Given the description of an element on the screen output the (x, y) to click on. 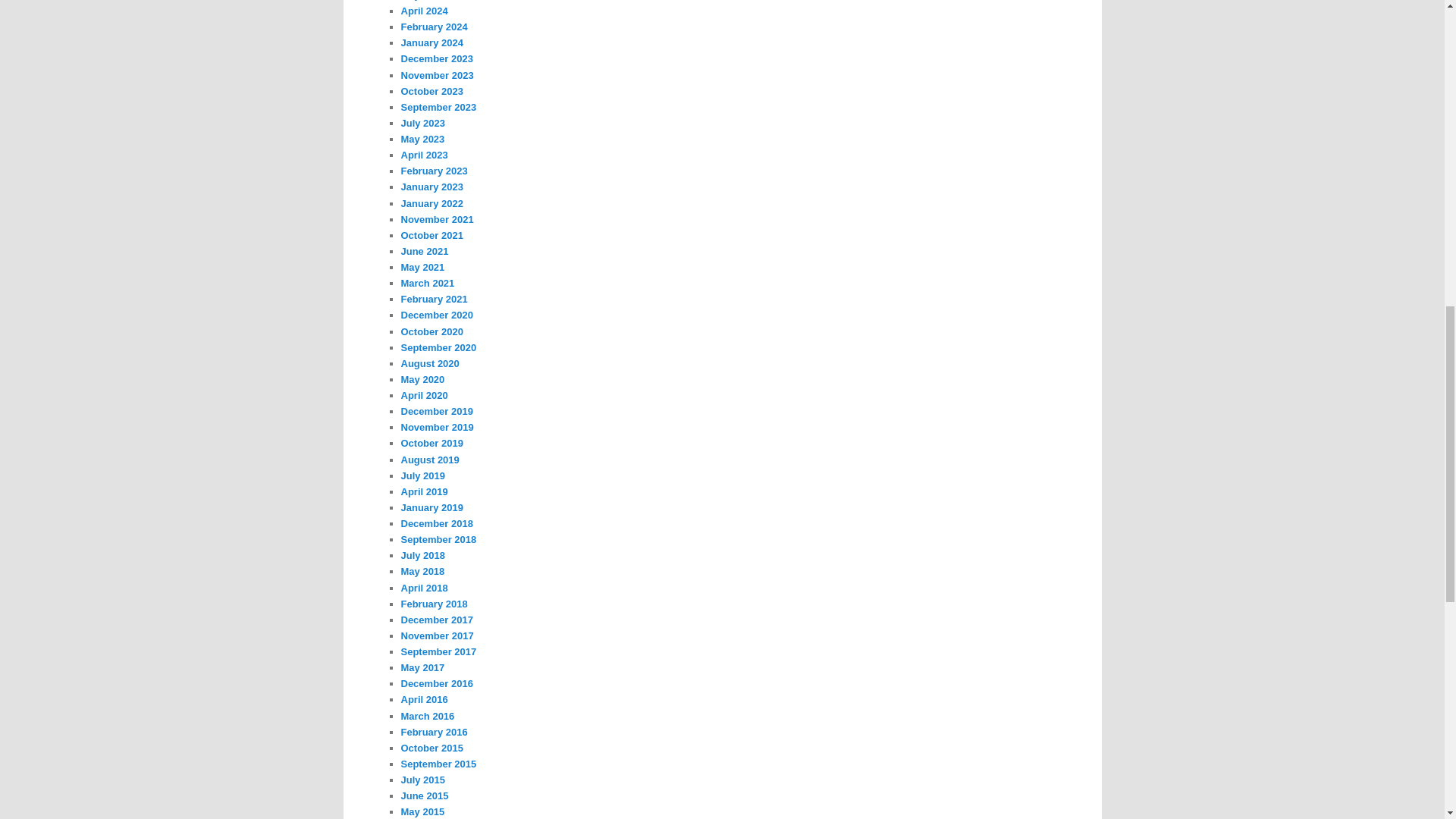
January 2024 (431, 42)
September 2023 (438, 107)
February 2024 (433, 26)
May 2024 (422, 0)
November 2023 (436, 75)
July 2023 (422, 122)
May 2023 (422, 138)
April 2024 (423, 10)
October 2023 (431, 91)
December 2023 (435, 58)
